Given the description of an element on the screen output the (x, y) to click on. 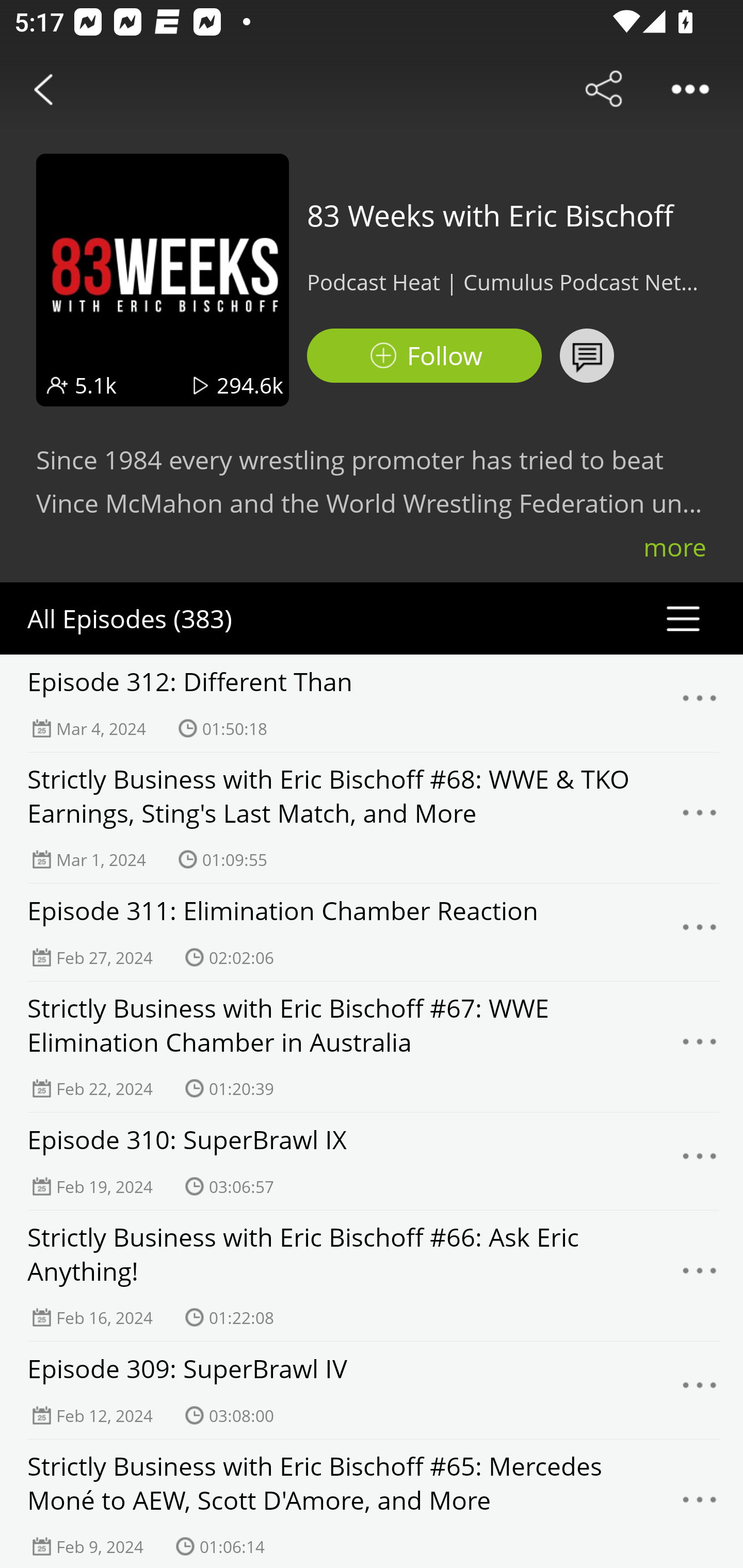
Back (43, 88)
Podbean Follow (423, 355)
5.1k (95, 384)
more (674, 546)
Menu (699, 703)
Menu (699, 817)
Menu (699, 932)
Menu (699, 1046)
Menu (699, 1160)
Menu (699, 1275)
Menu (699, 1389)
Menu (699, 1505)
